Given the description of an element on the screen output the (x, y) to click on. 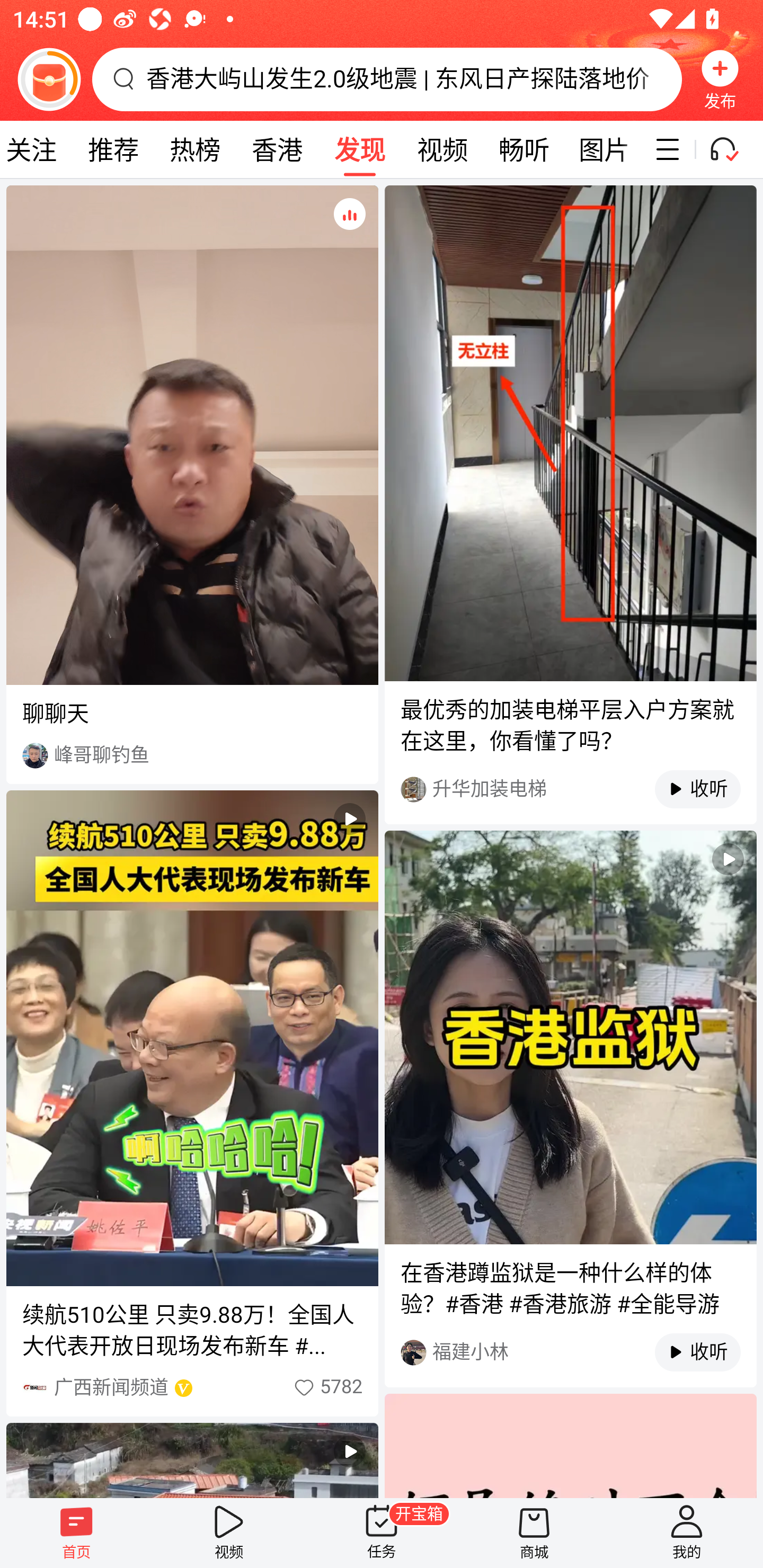
阅读赚金币 (48, 79)
发布 发布，按钮 (720, 78)
关注 (36, 149)
推荐 (113, 149)
热榜 (194, 149)
香港 (276, 149)
发现 (359, 149)
视频 (442, 149)
畅听 (523, 149)
图片 (603, 149)
听一听开关 (732, 149)
聊聊天  作者,峰哥聊钓鱼,按钮 峰哥聊钓鱼 (192, 484)
最优秀的加装电梯平层入户方案就在这里，你看懂了吗？  作者,升华加装电梯,按钮 升华加装电梯 收听 (570, 504)
作者,升华加装电梯,按钮 升华加装电梯 收听 (570, 789)
收听 (687, 789)
作者,福建小林,按钮 福建小林 收听 (570, 1352)
收听 (687, 1352)
作者,广西新闻频道,认证用户 按钮 广西新闻频道 赞5782 赞 (192, 1387)
首页 (76, 1532)
视频 (228, 1532)
任务 开宝箱 (381, 1532)
商城 (533, 1532)
我的 (686, 1532)
